Given the description of an element on the screen output the (x, y) to click on. 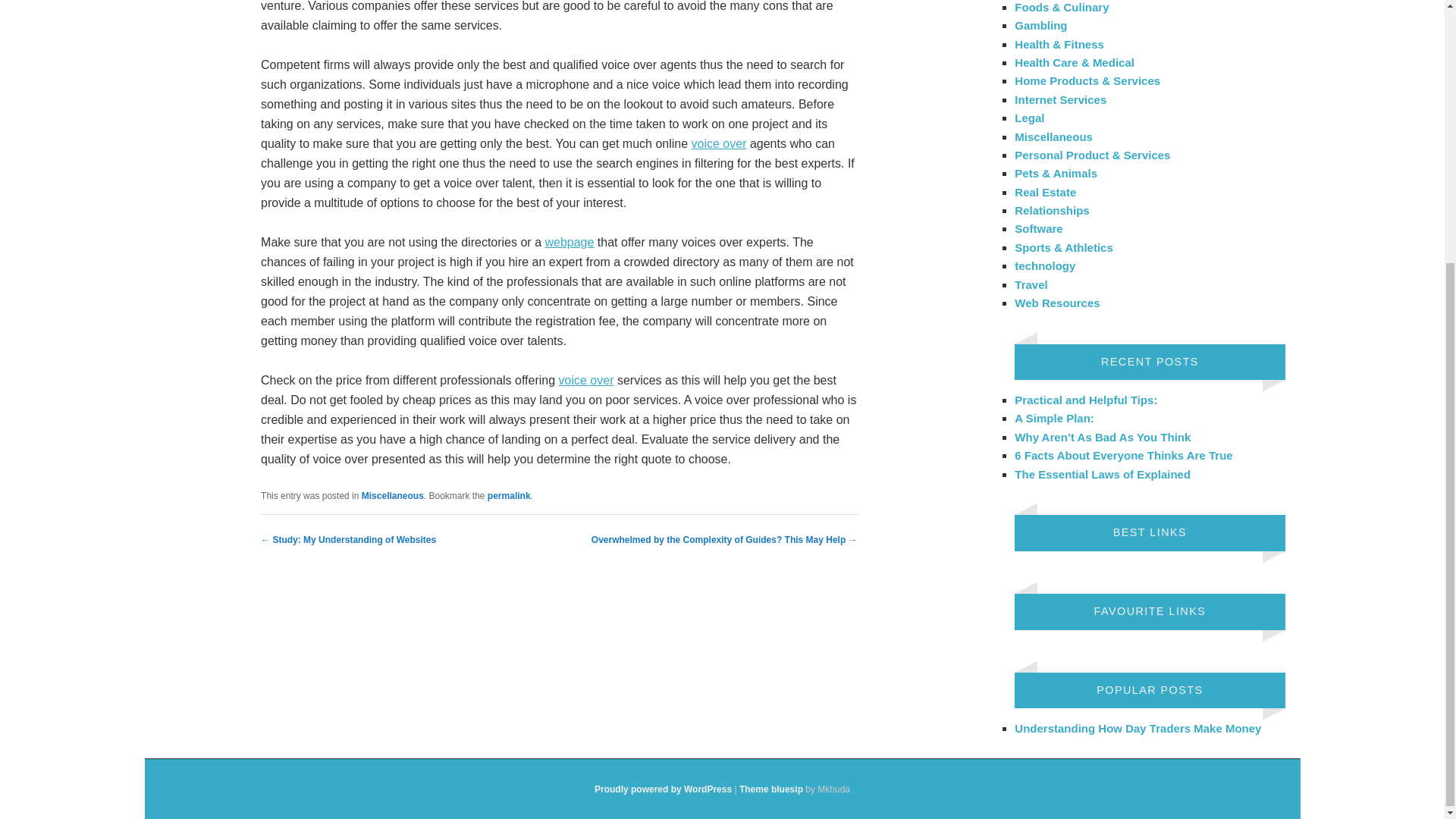
Software (1038, 228)
A Semantic Personal Publishing Platform (663, 788)
Gambling (1040, 24)
voice over (718, 143)
Miscellaneous (392, 495)
technology (1044, 265)
permalink (509, 495)
Relationships (1051, 210)
Real Estate (1044, 192)
Permalink to A Simple Plan: Experts (509, 495)
Understanding How Day Traders Make Money (1137, 727)
voice over (586, 379)
Travel (1030, 283)
Legal (1028, 117)
Miscellaneous (1053, 136)
